Given the description of an element on the screen output the (x, y) to click on. 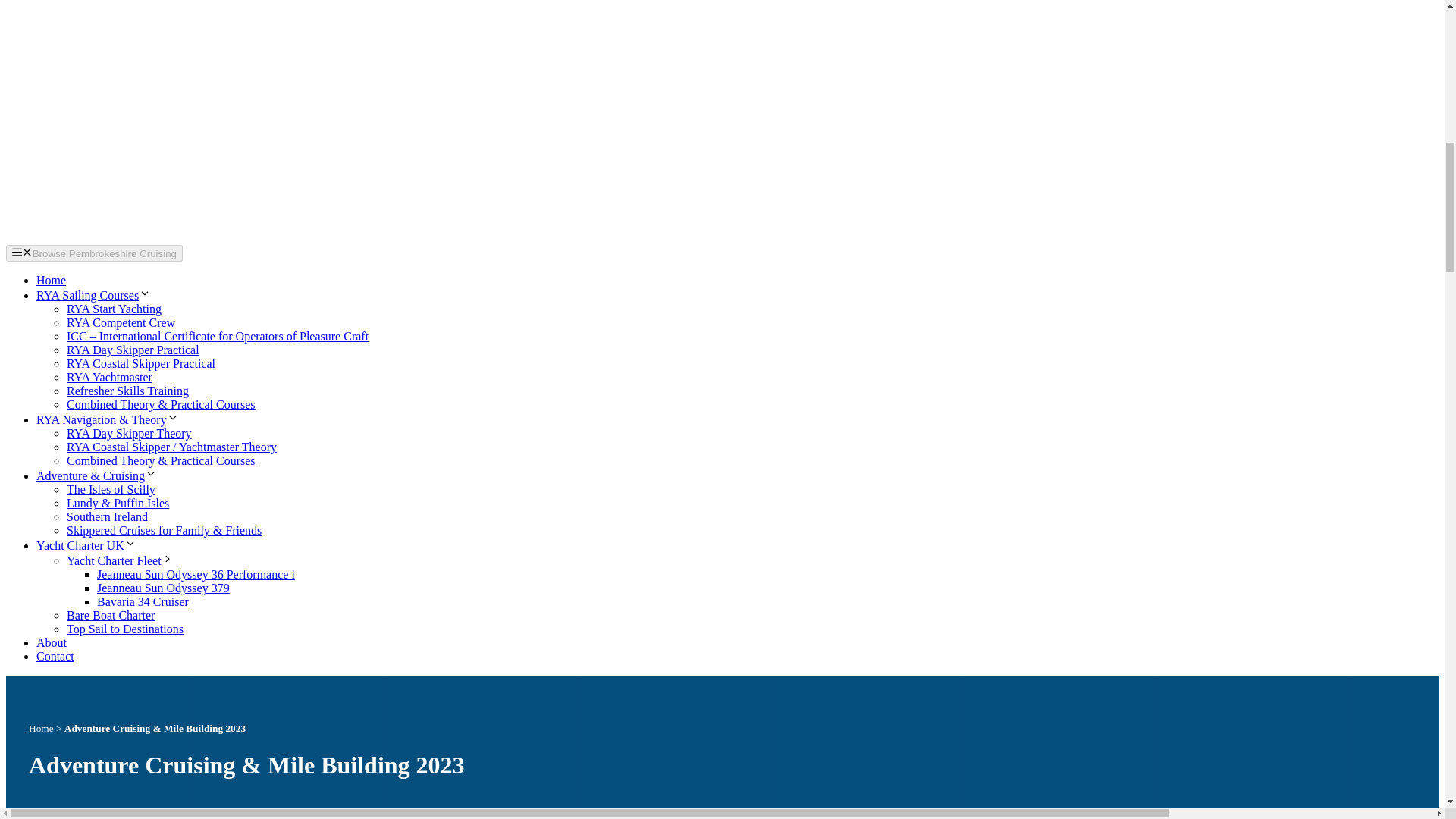
Refresher Skills Training (127, 390)
RYA Day Skipper Practical (132, 349)
RYA Yachtmaster (109, 377)
About (51, 642)
RYA Day Skipper Theory (129, 432)
Yacht Charter UK (86, 545)
Jeanneau Sun Odyssey 379 (163, 587)
Jeanneau Sun Odyssey 36 Performance i (196, 574)
Contact (55, 656)
RYA Start Yachting (113, 308)
